Given the description of an element on the screen output the (x, y) to click on. 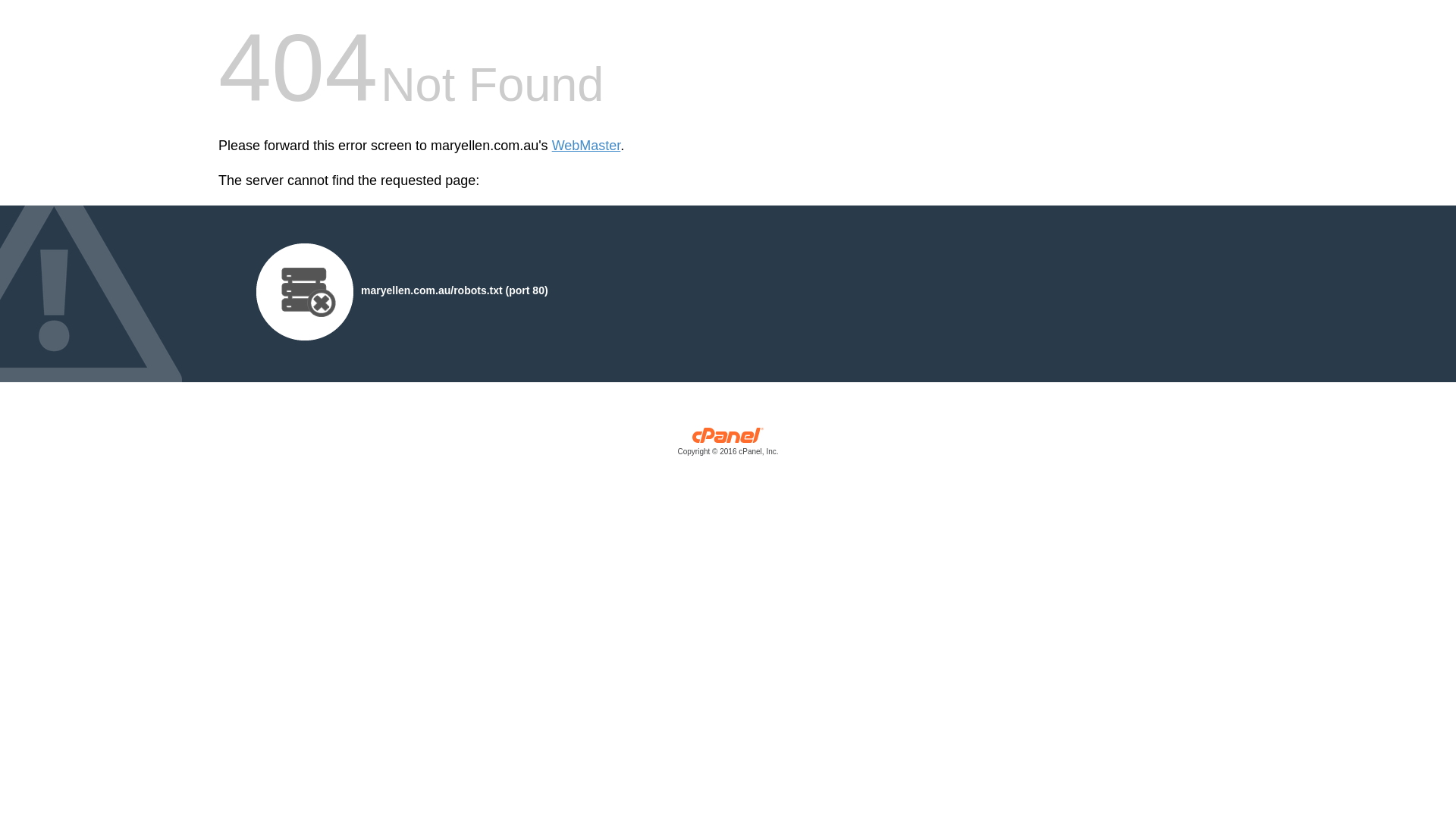
WebMaster Element type: text (586, 145)
